Given the description of an element on the screen output the (x, y) to click on. 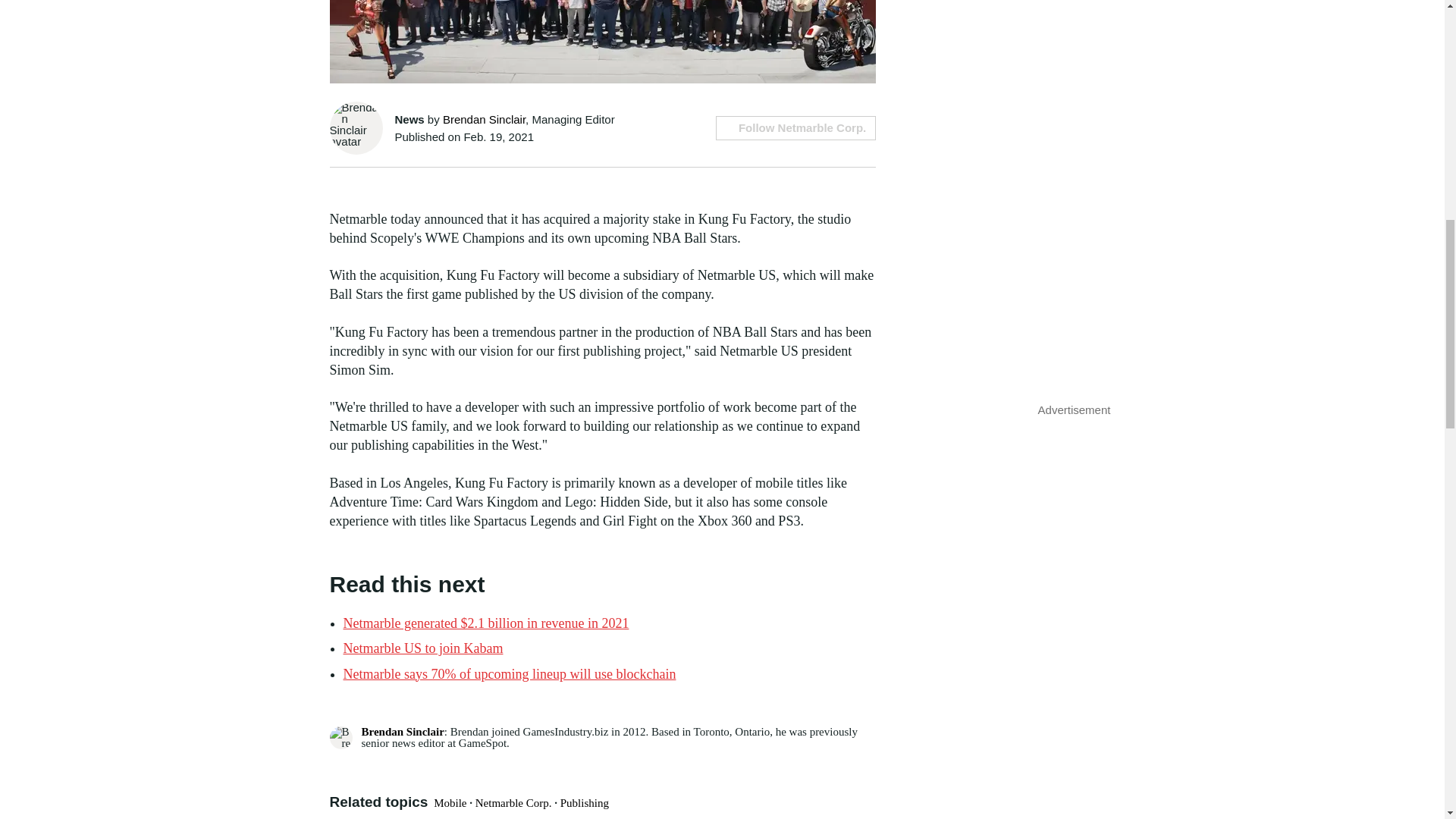
Follow Netmarble Corp. (796, 128)
Mobile (449, 802)
Netmarble Corp. (513, 802)
Brendan Sinclair (483, 119)
Follow Netmarble Corp. (796, 128)
Netmarble US to join Kabam (422, 648)
Brendan Sinclair (402, 731)
Publishing (584, 802)
